Given the description of an element on the screen output the (x, y) to click on. 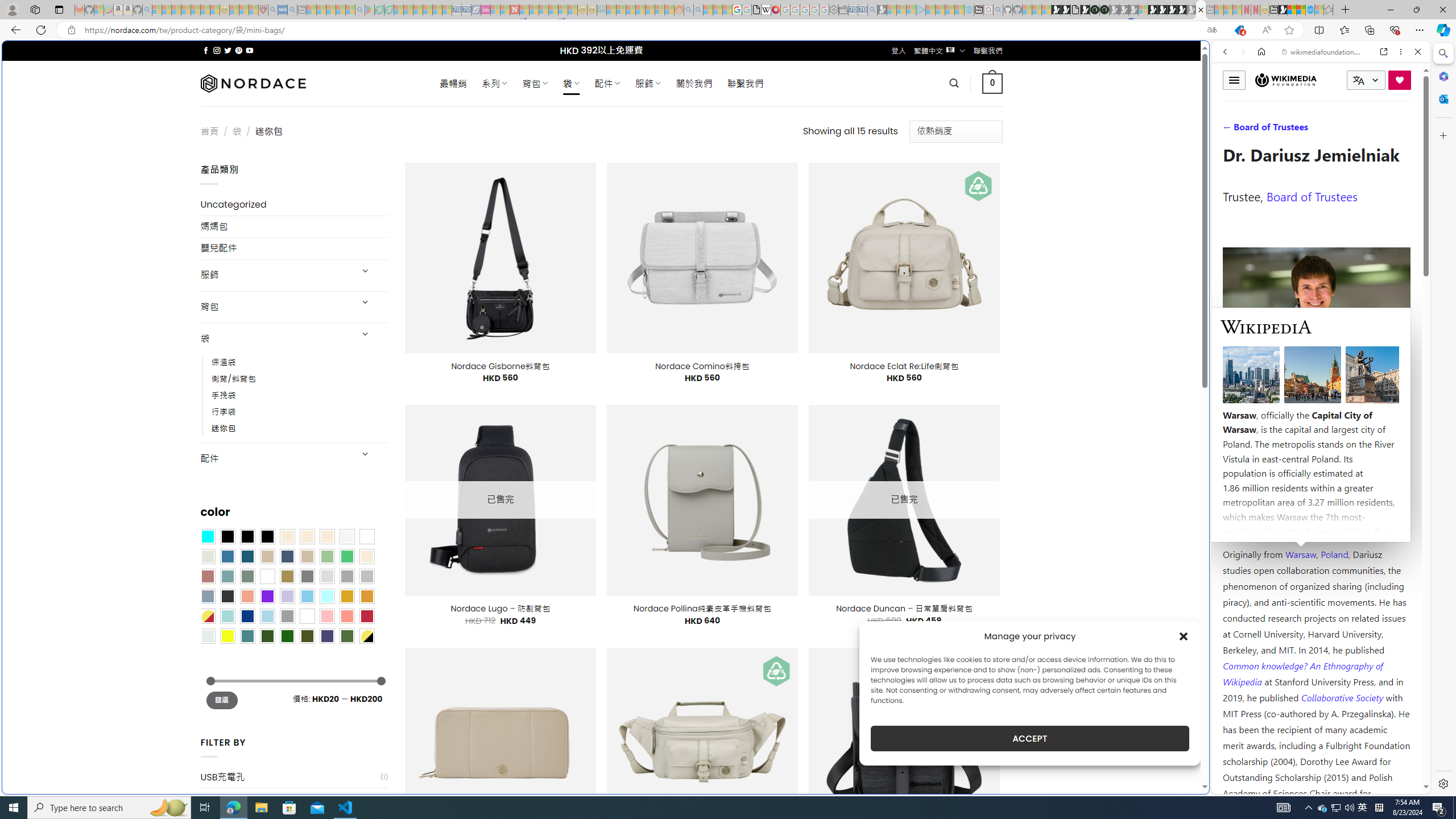
Search the web (1326, 78)
Bluey: Let's Play! - Apps on Google Play - Sleeping (369, 9)
github - Search - Sleeping (997, 9)
Cheap Hotels - Save70.com - Sleeping (466, 9)
Profile on Meta-Wiki (1273, 405)
